Given the description of an element on the screen output the (x, y) to click on. 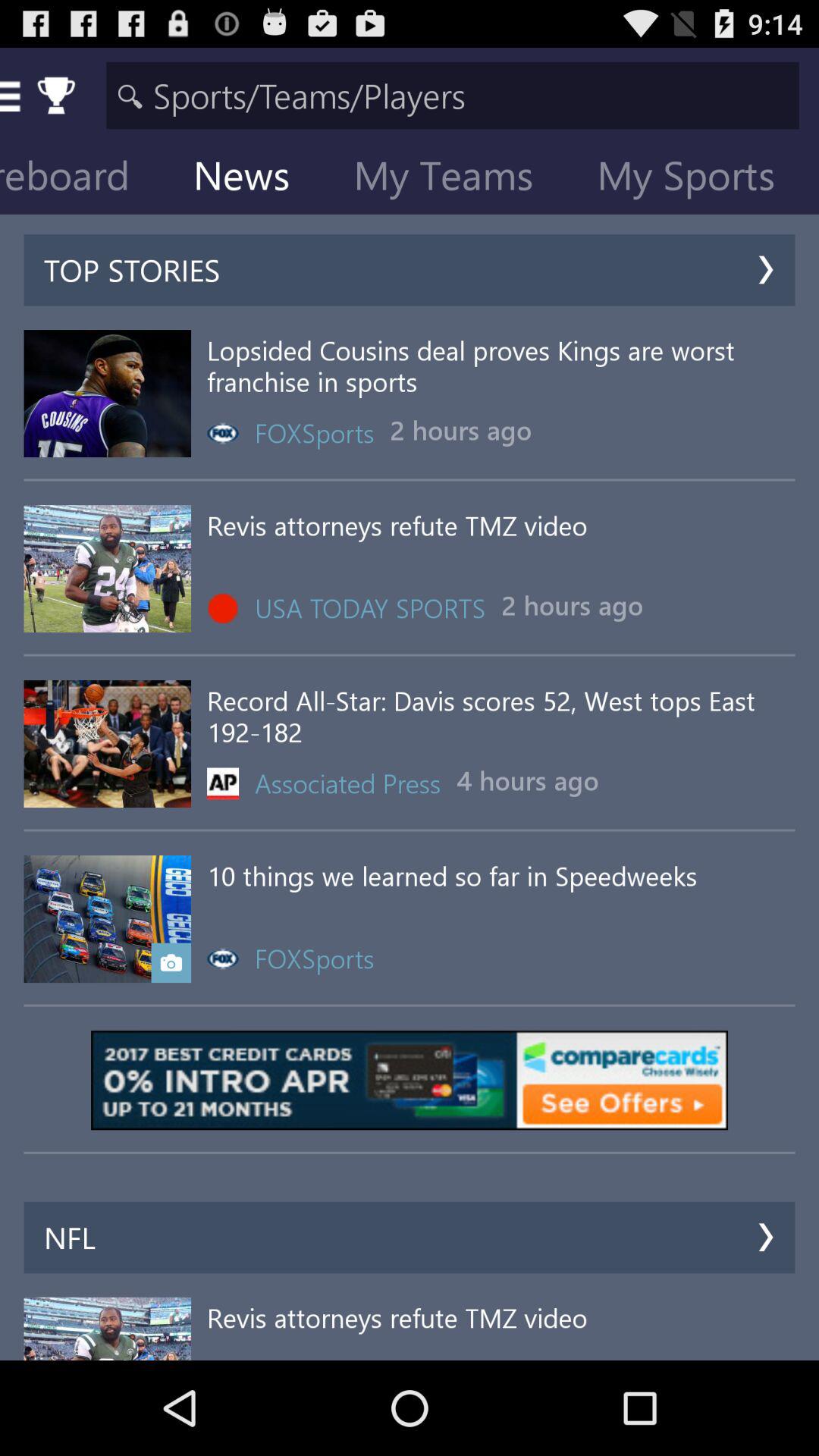
open icon to the left of my teams item (253, 178)
